Given the description of an element on the screen output the (x, y) to click on. 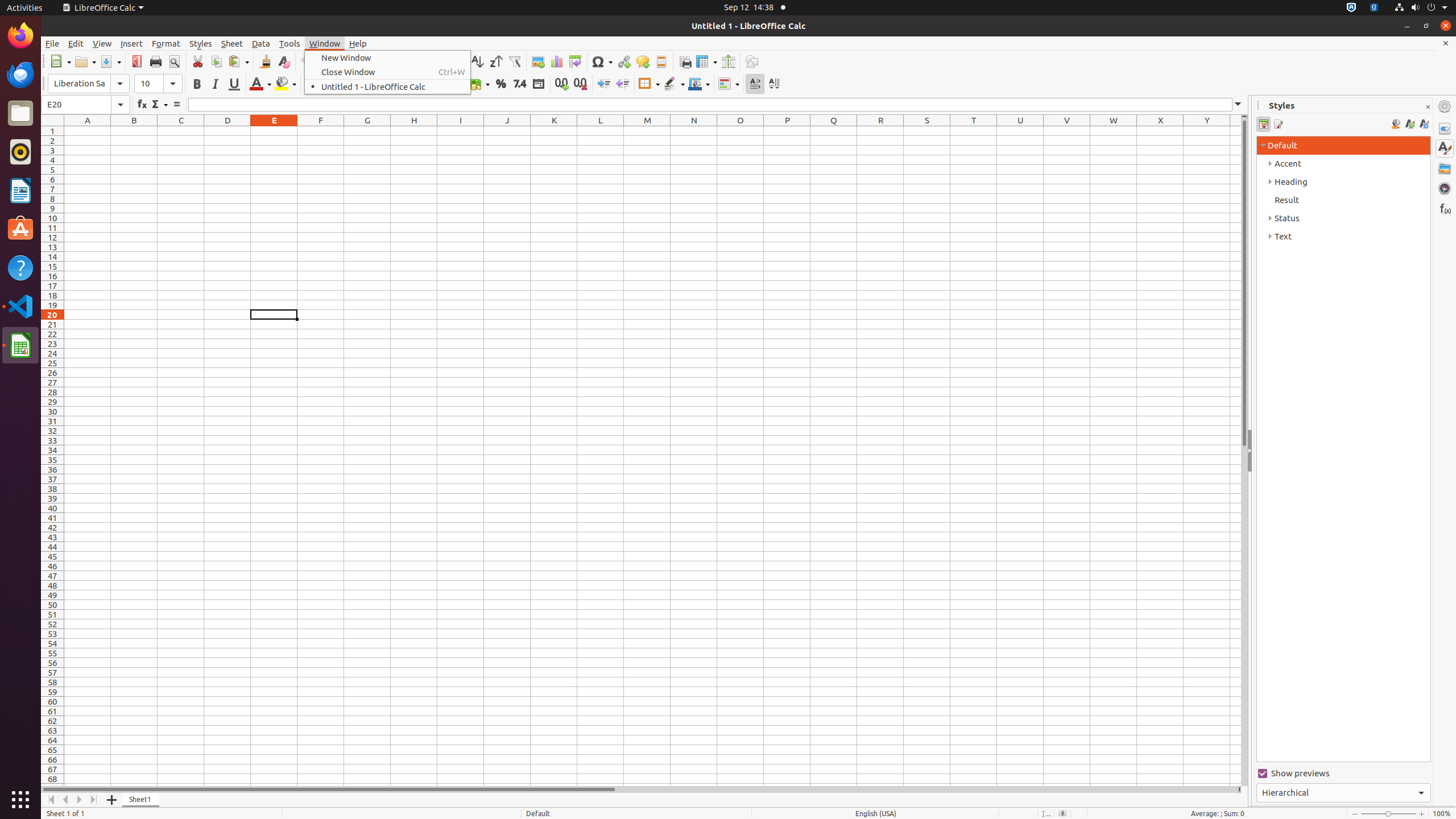
Format Element type: menu (165, 43)
Percent Element type: push-button (500, 83)
System Element type: menu (1420, 7)
Border Style Element type: push-button (673, 83)
Horizontal scroll bar Element type: scroll-bar (639, 789)
